Given the description of an element on the screen output the (x, y) to click on. 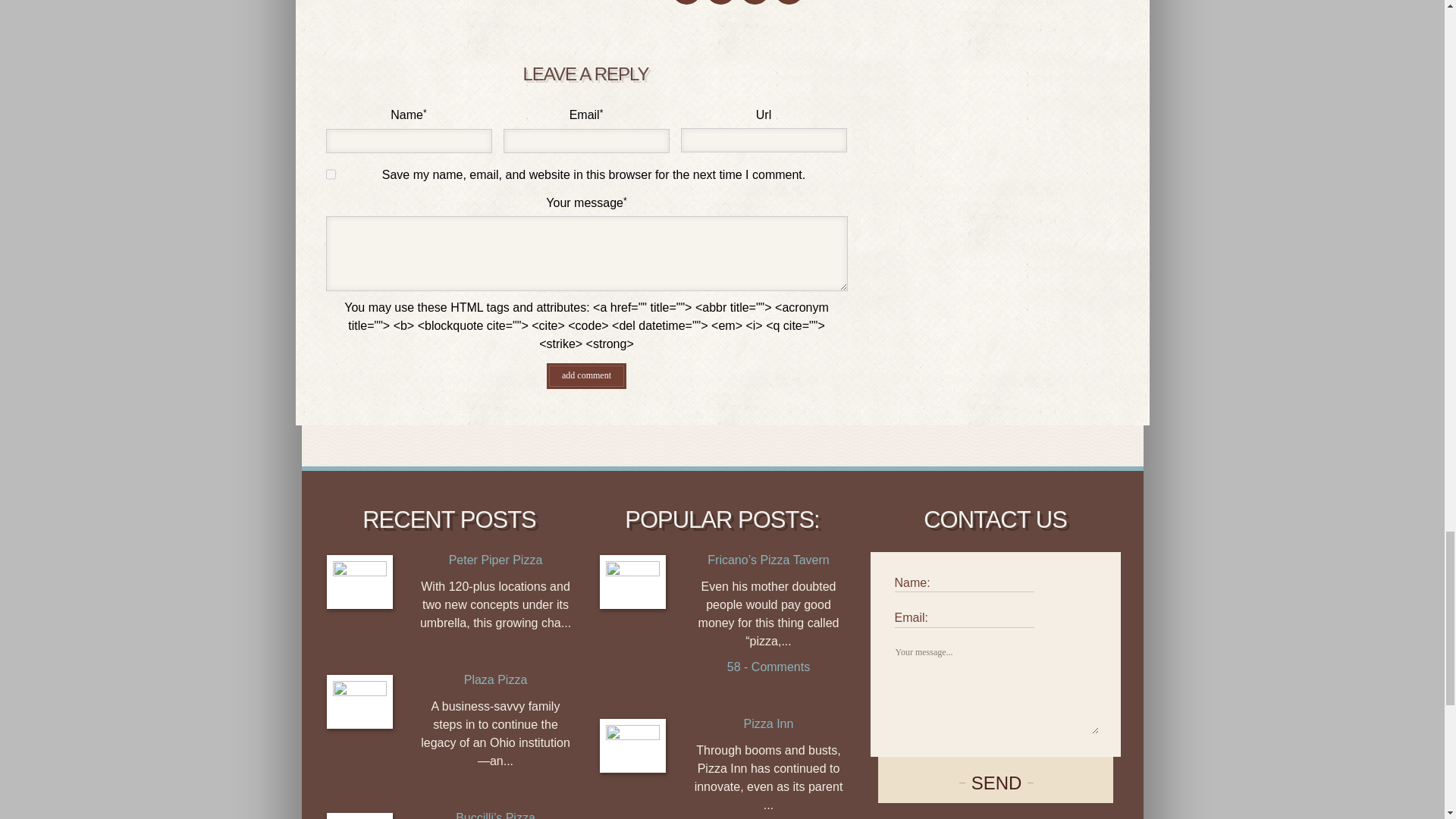
Plaza Pizza (495, 679)
Add comment (586, 376)
Plaza Pizza (358, 701)
Peter Piper Pizza (495, 560)
Peter Piper Pizza (358, 582)
Add comment (586, 376)
